Given the description of an element on the screen output the (x, y) to click on. 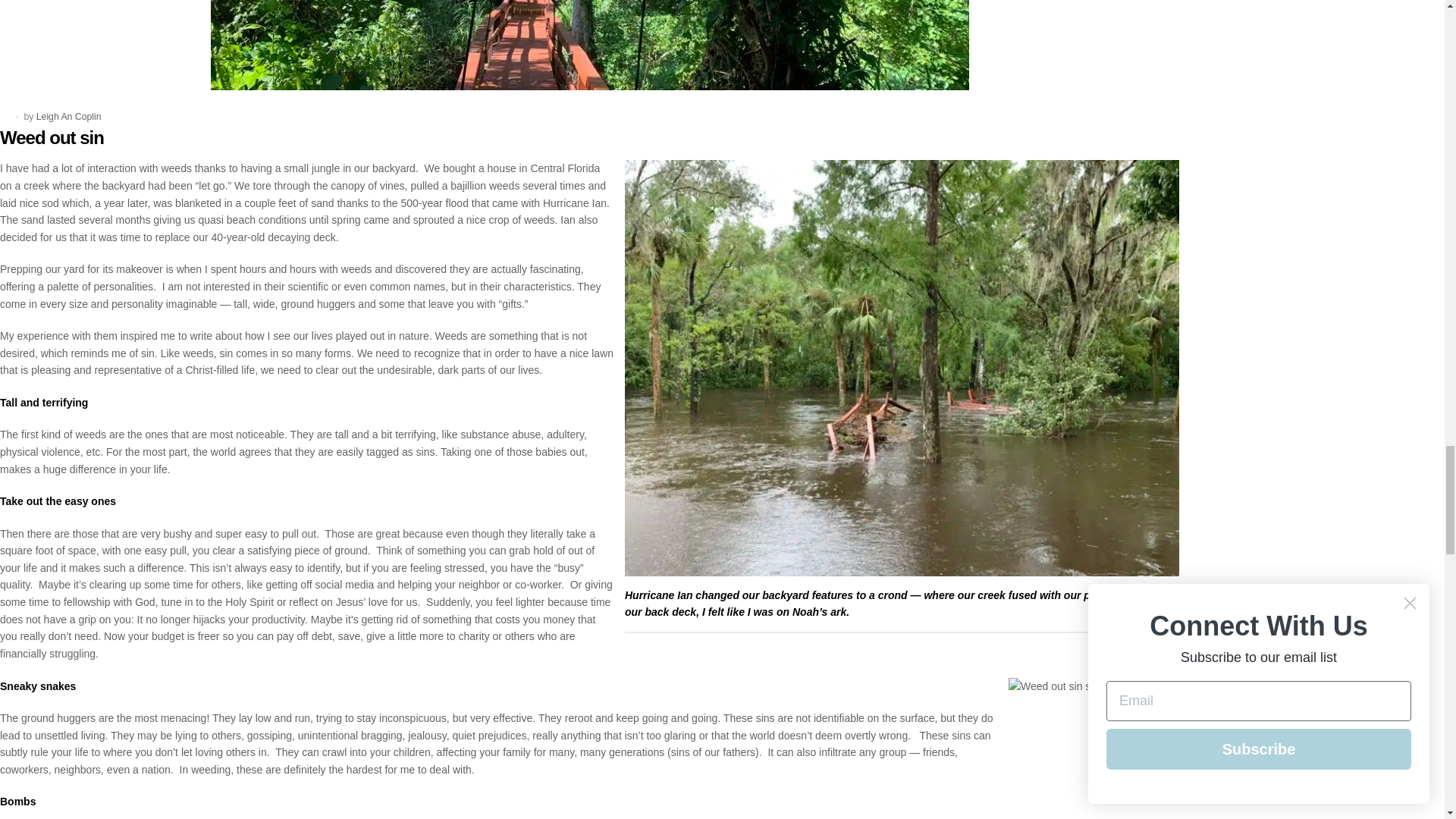
Weed out sin (51, 137)
Leigh An Coplin (68, 116)
